Given the description of an element on the screen output the (x, y) to click on. 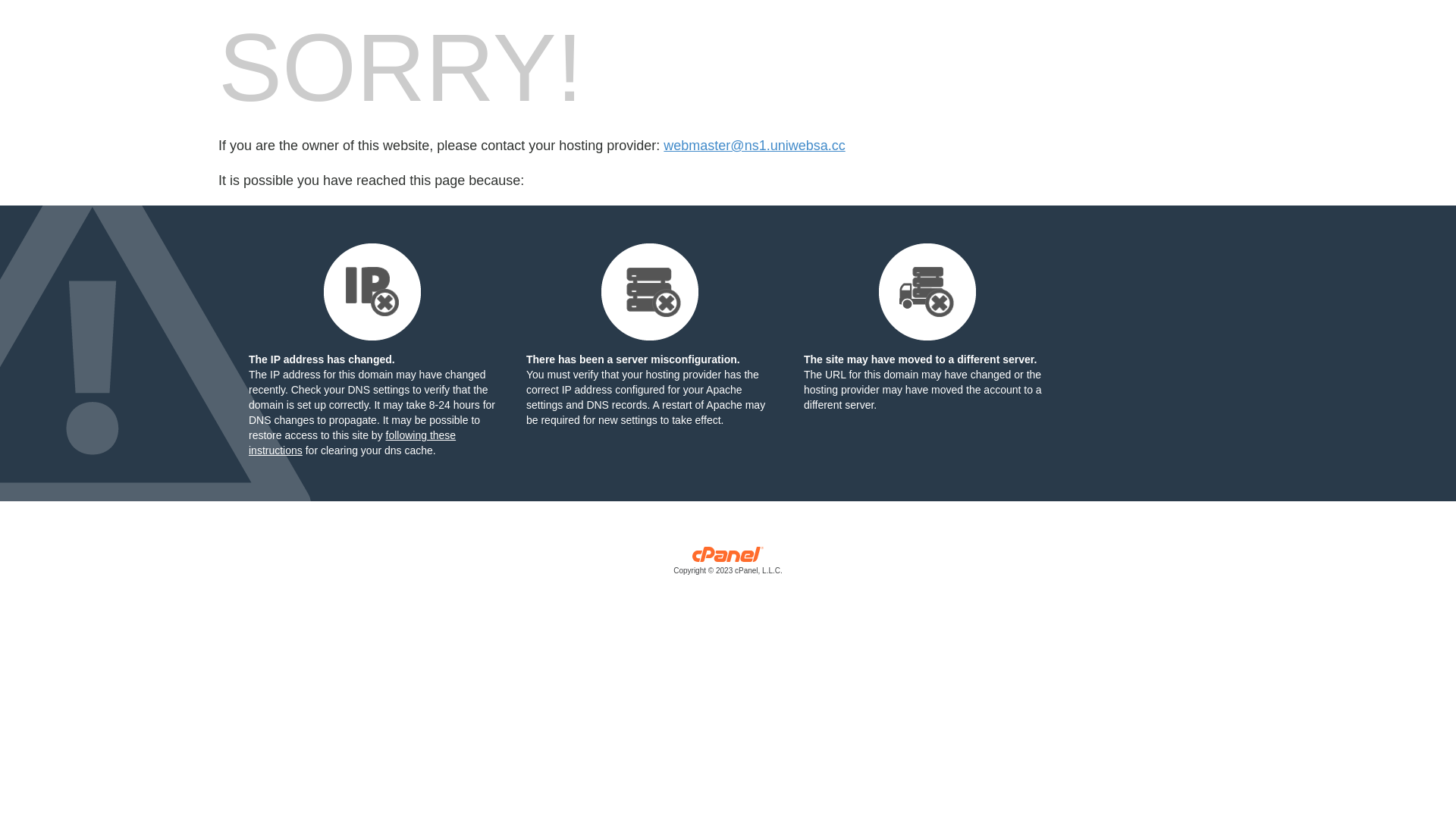
following these instructions Element type: text (351, 442)
webmaster@ns1.uniwebsa.cc Element type: text (753, 145)
